Given the description of an element on the screen output the (x, y) to click on. 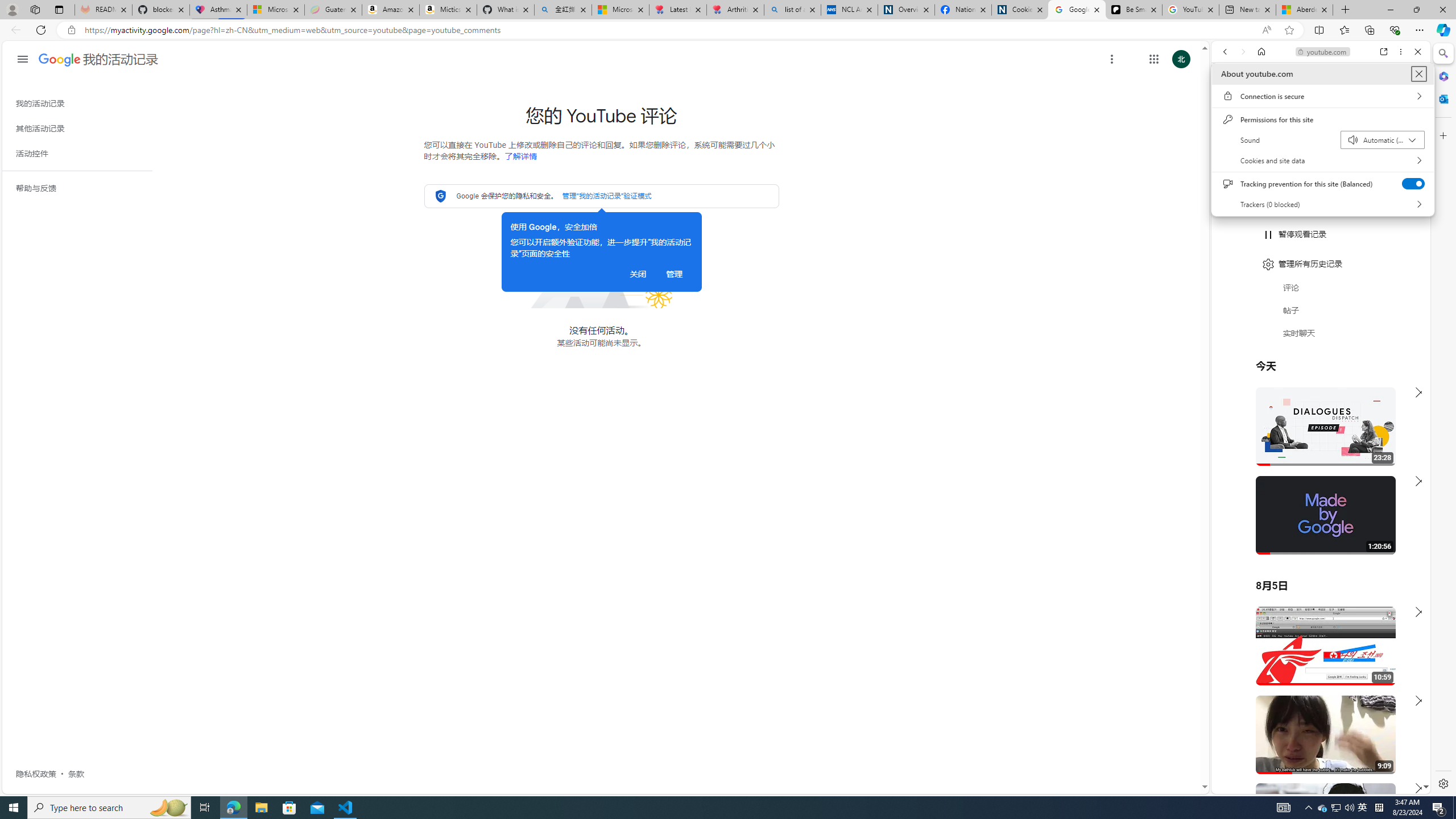
Class: dict_pnIcon rms_img (1312, 784)
Permissions for this site (1362, 807)
File Explorer (1322, 118)
Trackers (0 blocked) (261, 807)
Task View (1322, 204)
